Given the description of an element on the screen output the (x, y) to click on. 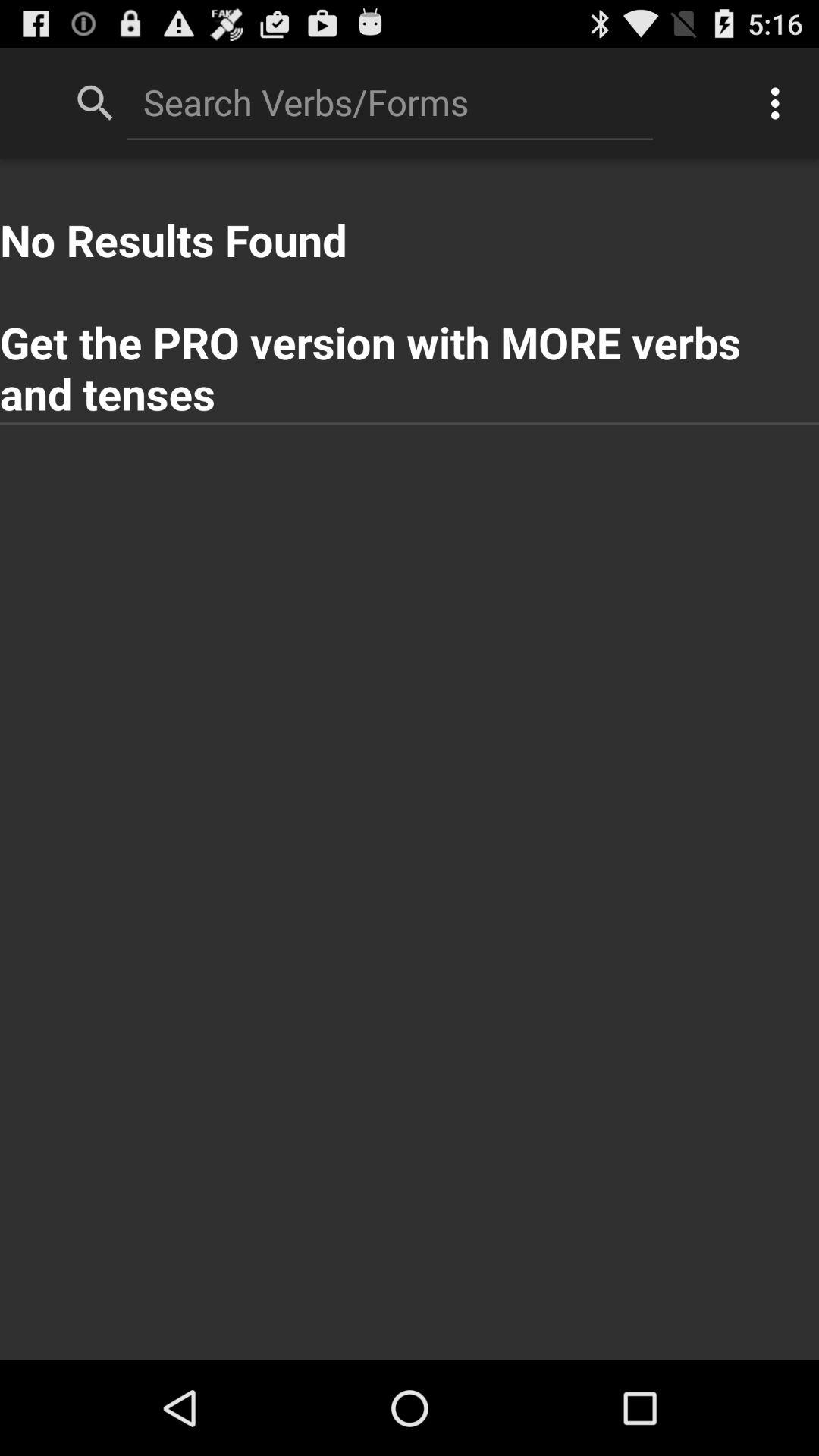
open the icon at the top right corner (779, 103)
